Given the description of an element on the screen output the (x, y) to click on. 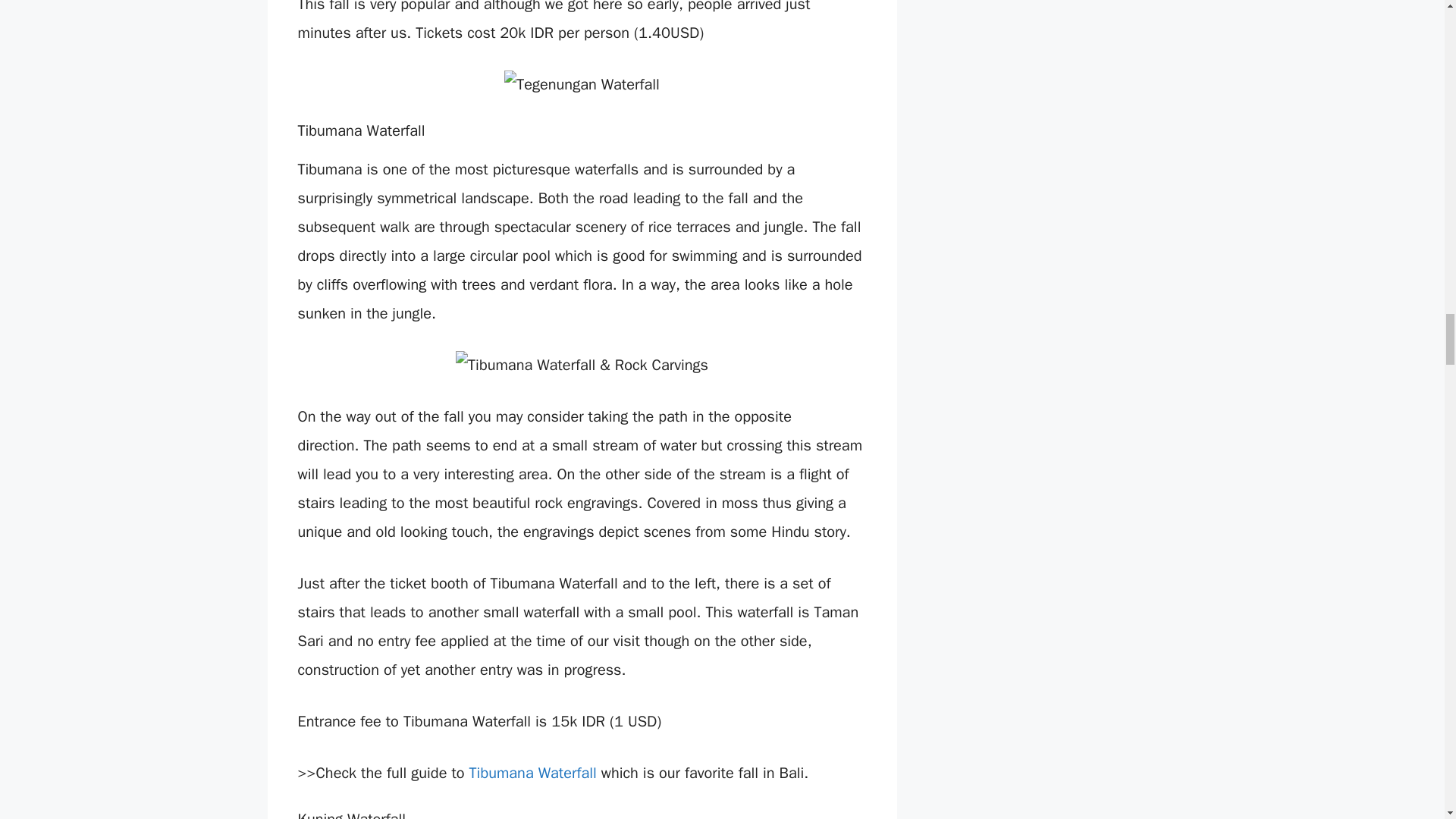
Tibumana Waterfall (532, 772)
